Given the description of an element on the screen output the (x, y) to click on. 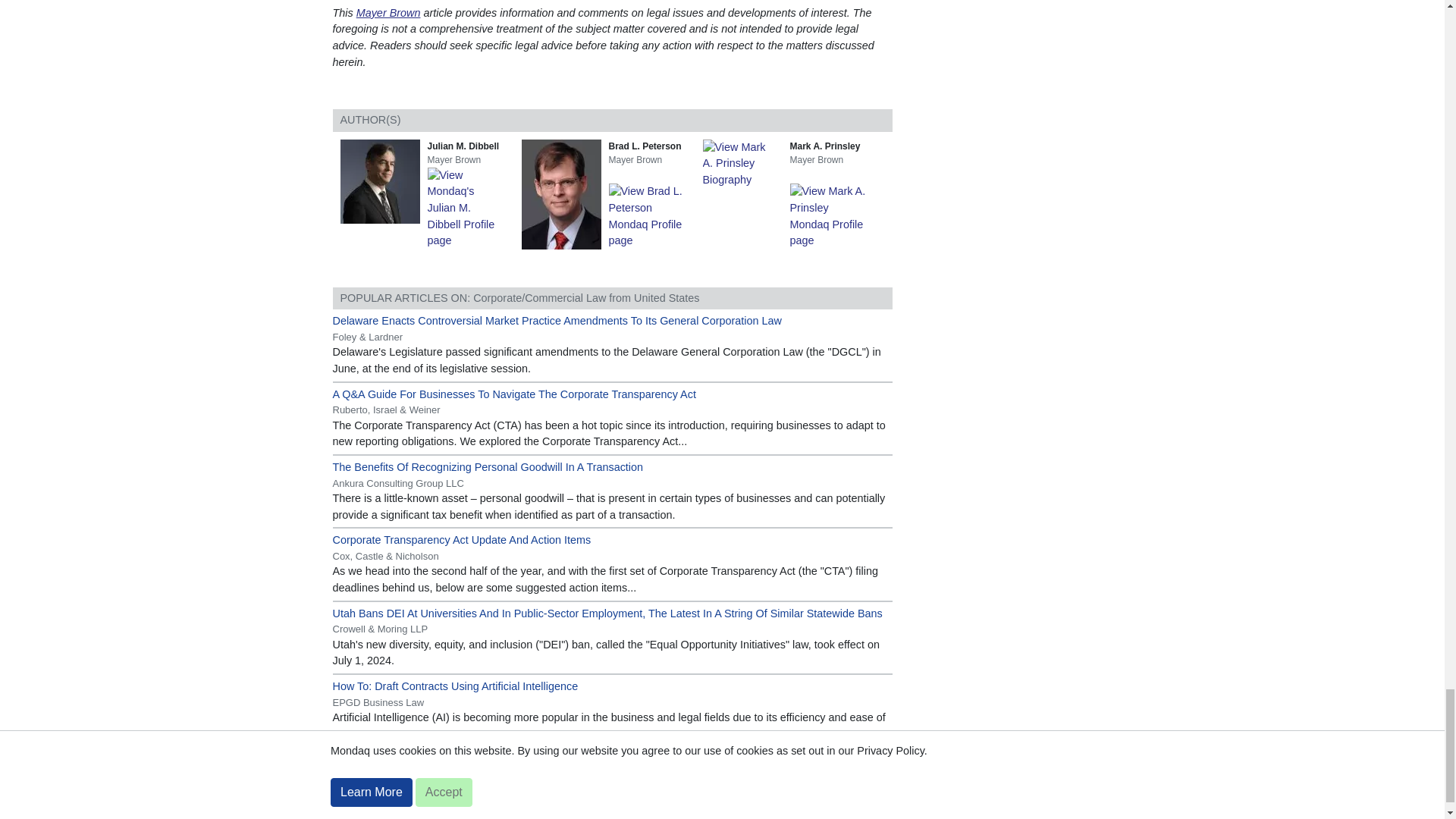
View this authors biography on their website (382, 180)
More from Julian M.  Dibbell (469, 207)
Mayer Brown (388, 12)
